Given the description of an element on the screen output the (x, y) to click on. 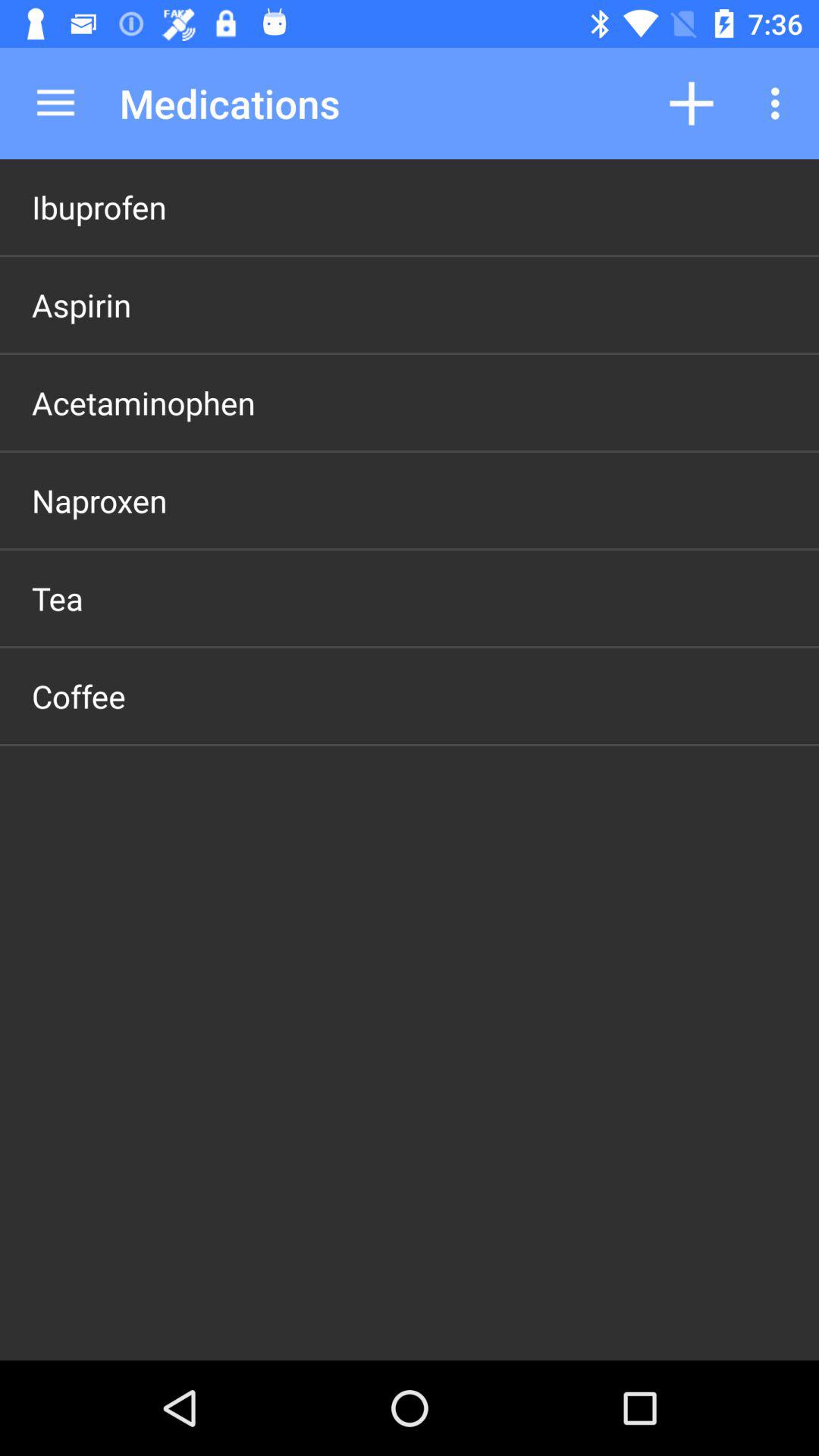
select icon above the tea item (99, 500)
